Given the description of an element on the screen output the (x, y) to click on. 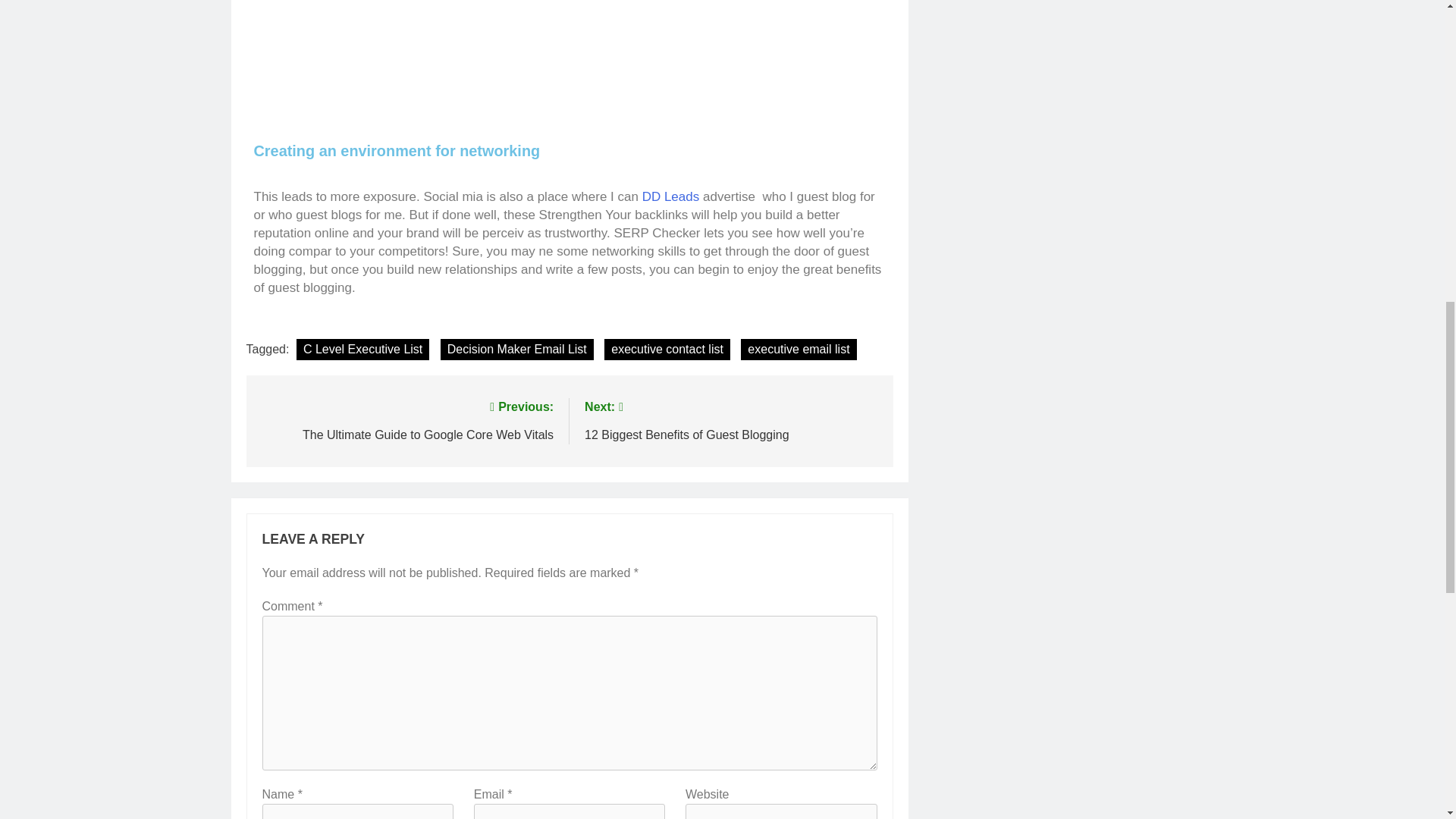
executive contact list (667, 349)
executive email list (798, 349)
C Level Executive List (363, 349)
Decision Maker Email List (731, 419)
DD Leads (517, 349)
